Given the description of an element on the screen output the (x, y) to click on. 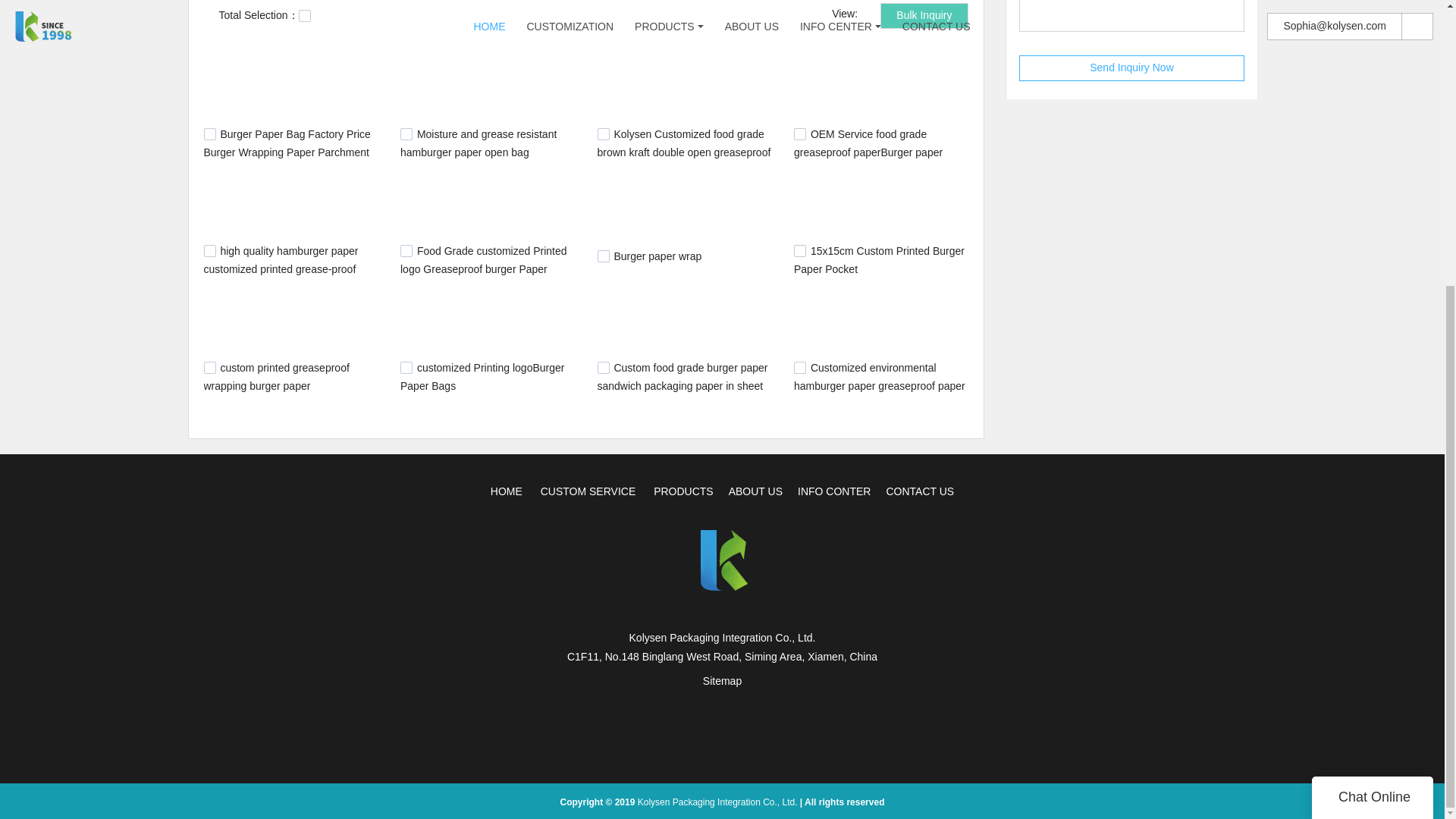
7670 (799, 367)
5844 (209, 250)
on (304, 15)
5244 (406, 133)
Customized environmental hamburger paper greaseproof paper (879, 376)
6298 (799, 250)
5282 (603, 133)
5191 (209, 133)
